Given the description of an element on the screen output the (x, y) to click on. 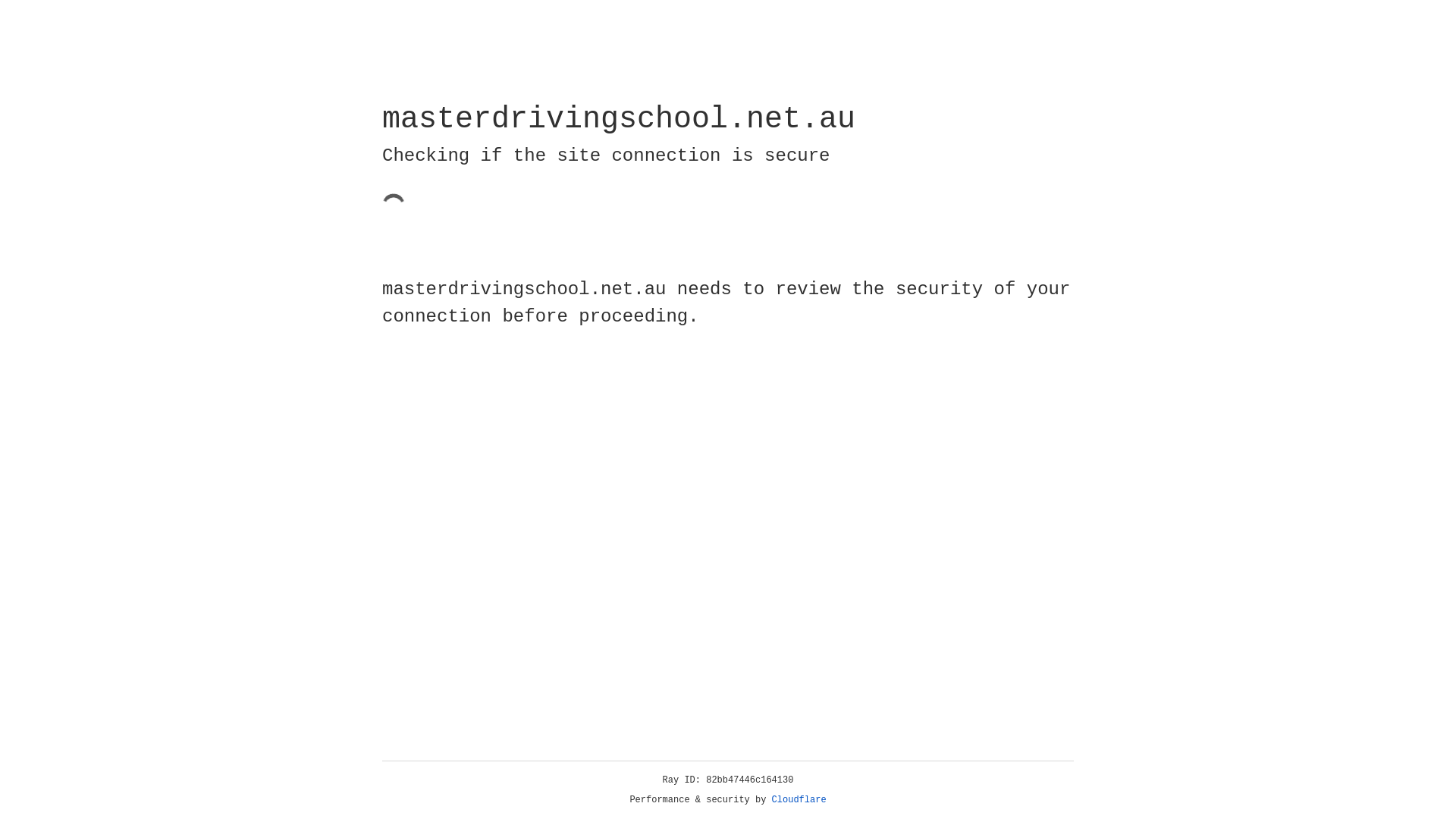
Cloudflare Element type: text (798, 799)
